Given the description of an element on the screen output the (x, y) to click on. 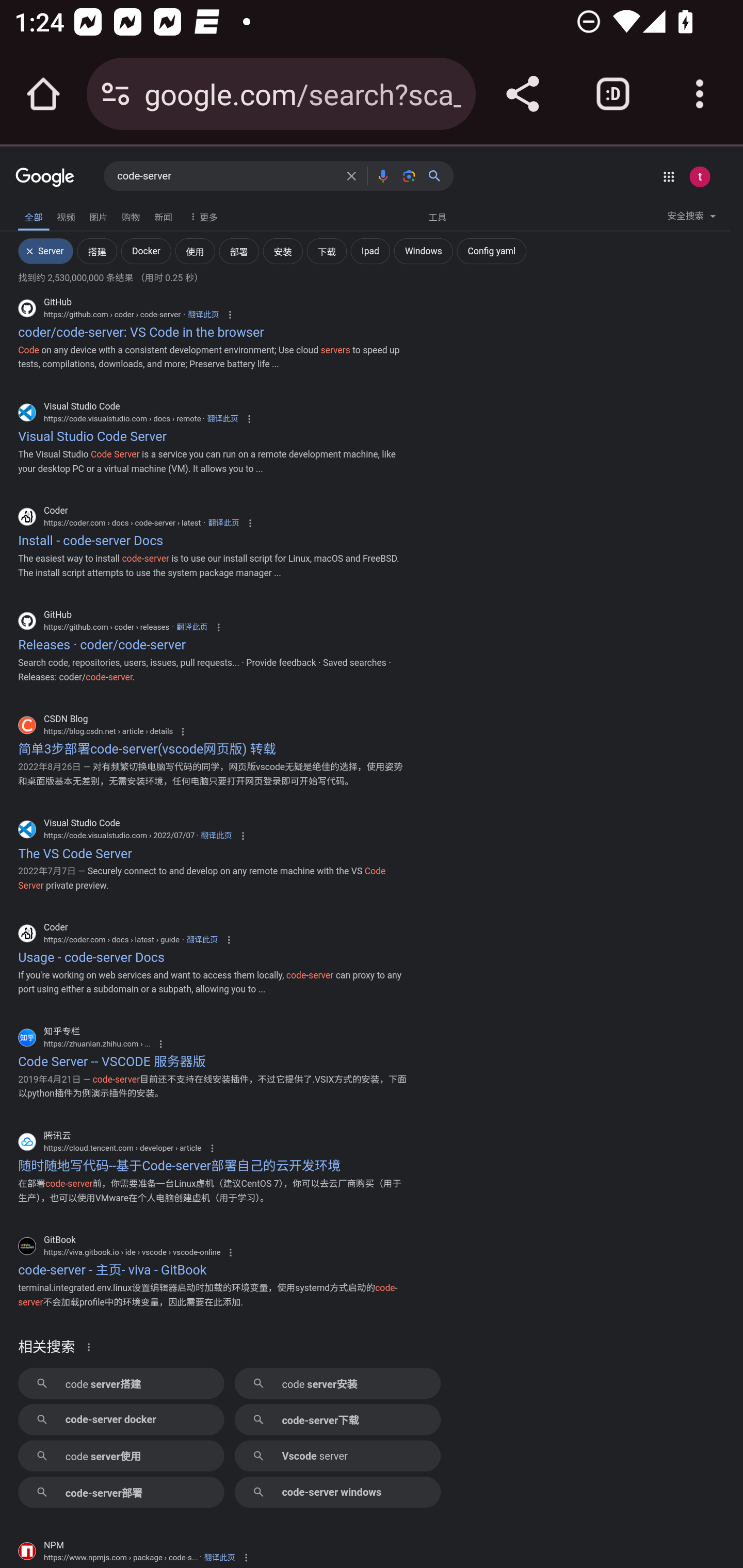
Open the home page (43, 93)
Connection is secure (115, 93)
Share (522, 93)
Switch or close tabs (612, 93)
Customize and control Google Chrome (699, 93)
清除 (351, 175)
按语音搜索 (382, 175)
按图搜索 (408, 175)
搜索 (438, 175)
Google 应用 (668, 176)
Google 账号： test appium (testappium002@gmail.com) (699, 176)
Google (45, 178)
code-server (225, 176)
无障碍功能反馈 (41, 212)
视频 (65, 215)
图片 (98, 215)
购物 (131, 215)
新闻 (163, 215)
更多 (201, 215)
安全搜索 (691, 218)
工具 (437, 215)
移除“Server” Server (45, 249)
添加“搭建” 搭建 (96, 249)
添加“Docker” Docker (145, 249)
添加“使用” 使用 (194, 249)
添加“部署” 部署 (238, 249)
添加“安装” 安装 (282, 249)
添加“下载” 下载 (326, 249)
添加“Ipad” Ipad (369, 249)
添加“Windows” Windows (423, 249)
添加“Config yaml” Config yaml (491, 249)
翻译此页 (203, 313)
翻译此页 (222, 418)
翻译此页 (223, 523)
翻译此页 (192, 626)
翻译此页 (215, 835)
翻译此页 (202, 939)
关于这条结果的详细信息 (92, 1346)
code server搭建 (120, 1382)
code server安装 (337, 1382)
code-server docker (120, 1418)
code-server下载 (337, 1418)
code server使用 (120, 1454)
Vscode server (337, 1454)
code-server部署 (120, 1491)
code-server windows (337, 1491)
翻译此页 (219, 1556)
